Given the description of an element on the screen output the (x, y) to click on. 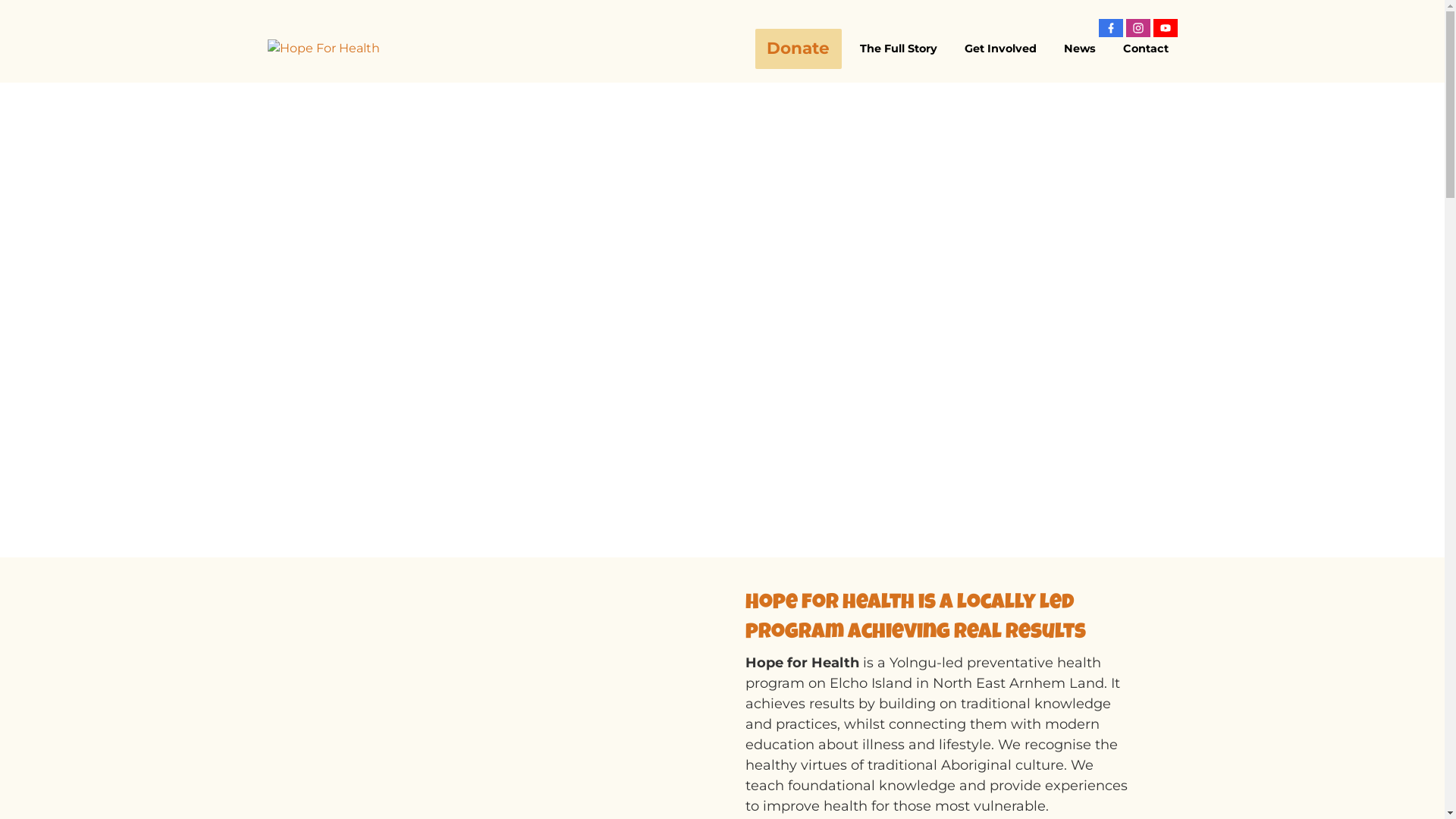
Contact Element type: text (1144, 48)
The Full Story Element type: text (898, 48)
News Element type: text (1079, 48)
Get Involved Element type: text (1000, 48)
Donate Element type: text (798, 48)
